Given the description of an element on the screen output the (x, y) to click on. 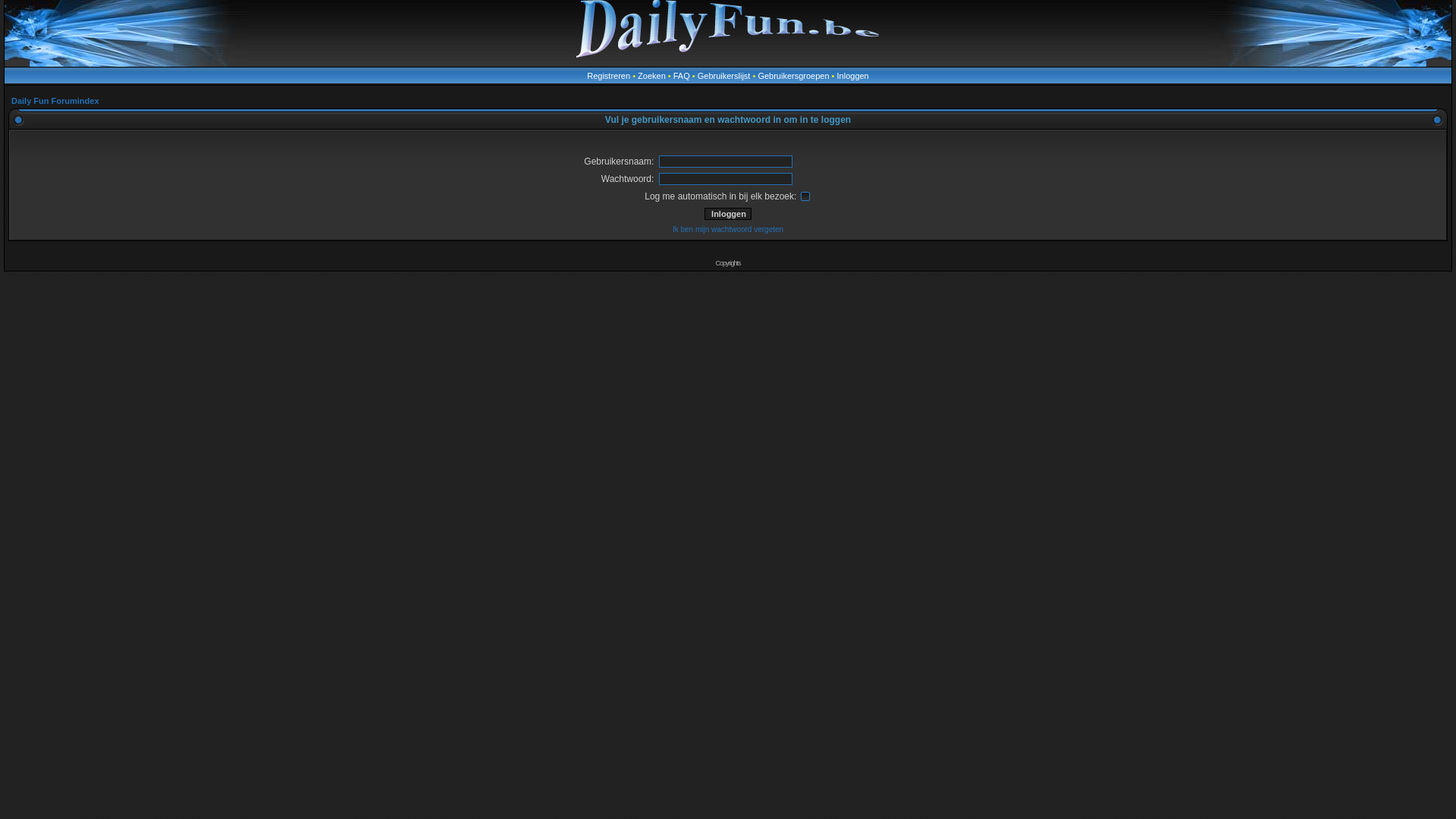
Gebruikerslijst Element type: text (723, 75)
Inloggen Element type: text (727, 213)
Ik ben mijn wachtwoord vergeten Element type: text (727, 229)
FAQ Element type: text (681, 75)
Copyrights Element type: text (727, 262)
Zoeken Element type: text (651, 75)
Inloggen Element type: text (853, 75)
Gebruikersgroepen Element type: text (792, 75)
Registreren Element type: text (608, 75)
Daily Fun Forumindex Element type: text (55, 100)
